Given the description of an element on the screen output the (x, y) to click on. 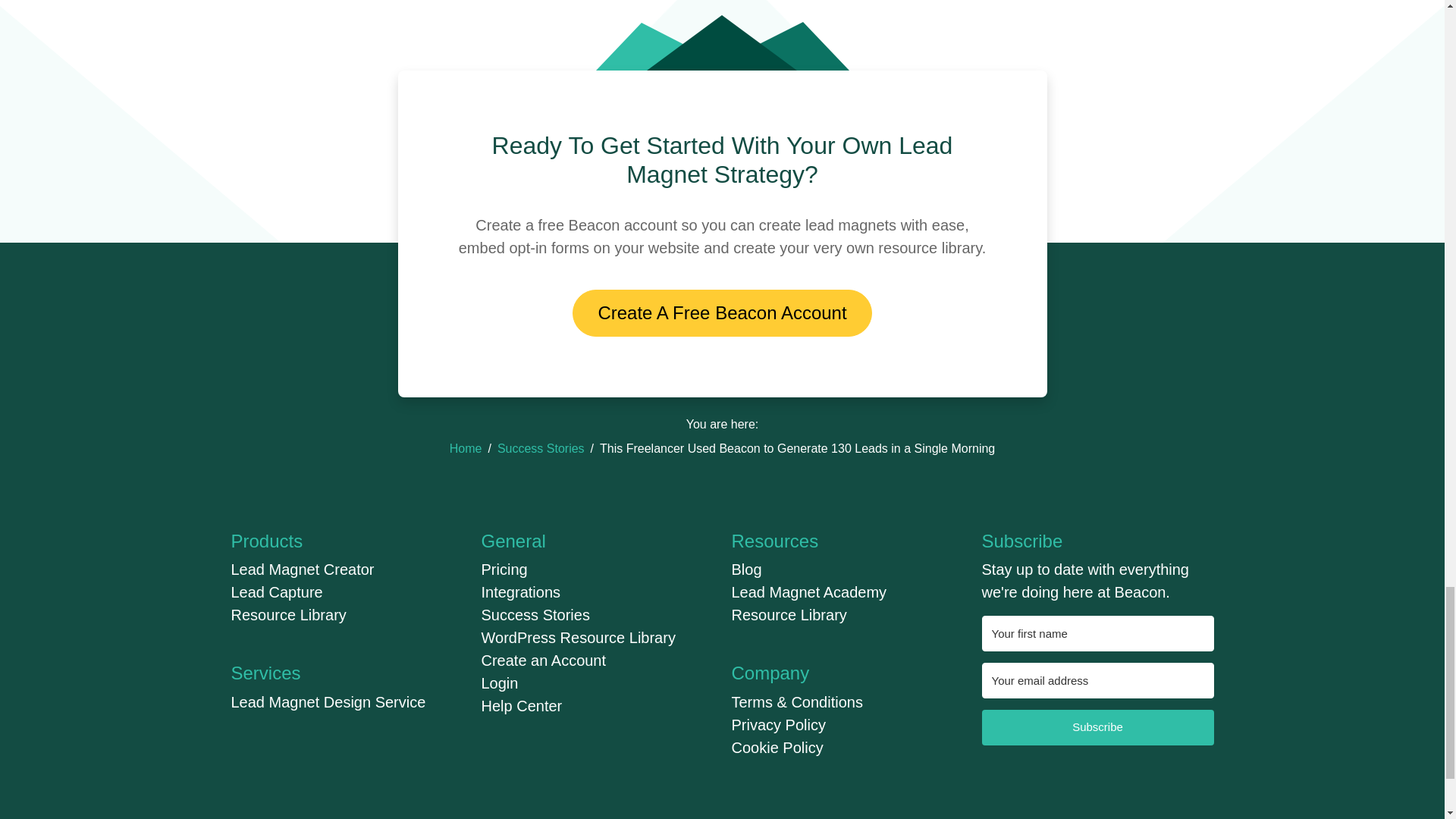
Integrations (520, 591)
Lead Magnet Design Service (327, 701)
Resource Library (787, 614)
Success Stories (541, 448)
Lead Magnet Academy (808, 591)
Privacy Policy (777, 724)
Lead Magnet Creator (302, 569)
Login (499, 682)
Pricing (503, 569)
Blog (745, 569)
Success Stories (534, 614)
WordPress Resource Library (577, 637)
Create an Account (542, 660)
Home (465, 448)
Help Center (521, 705)
